Given the description of an element on the screen output the (x, y) to click on. 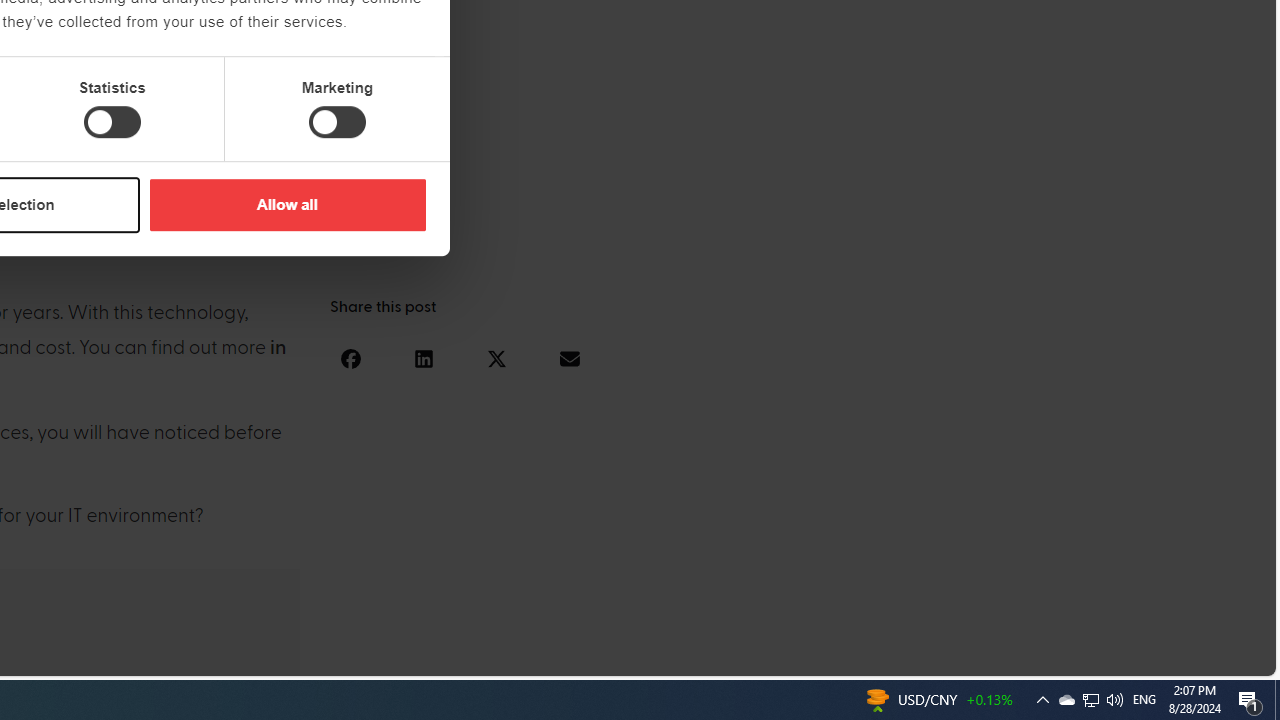
Share on x-twitter (496, 358)
Language switcher : Klingon (1226, 657)
Language switcher : Czech (1205, 657)
Language switcher : Dutch (965, 657)
Language switcher : German (885, 657)
Language switcher : Finnish (1165, 657)
Language switcher : Croatian (1045, 657)
Language switcher : French (906, 657)
Allow all (287, 204)
Language switcher : Greek (1145, 657)
